Given the description of an element on the screen output the (x, y) to click on. 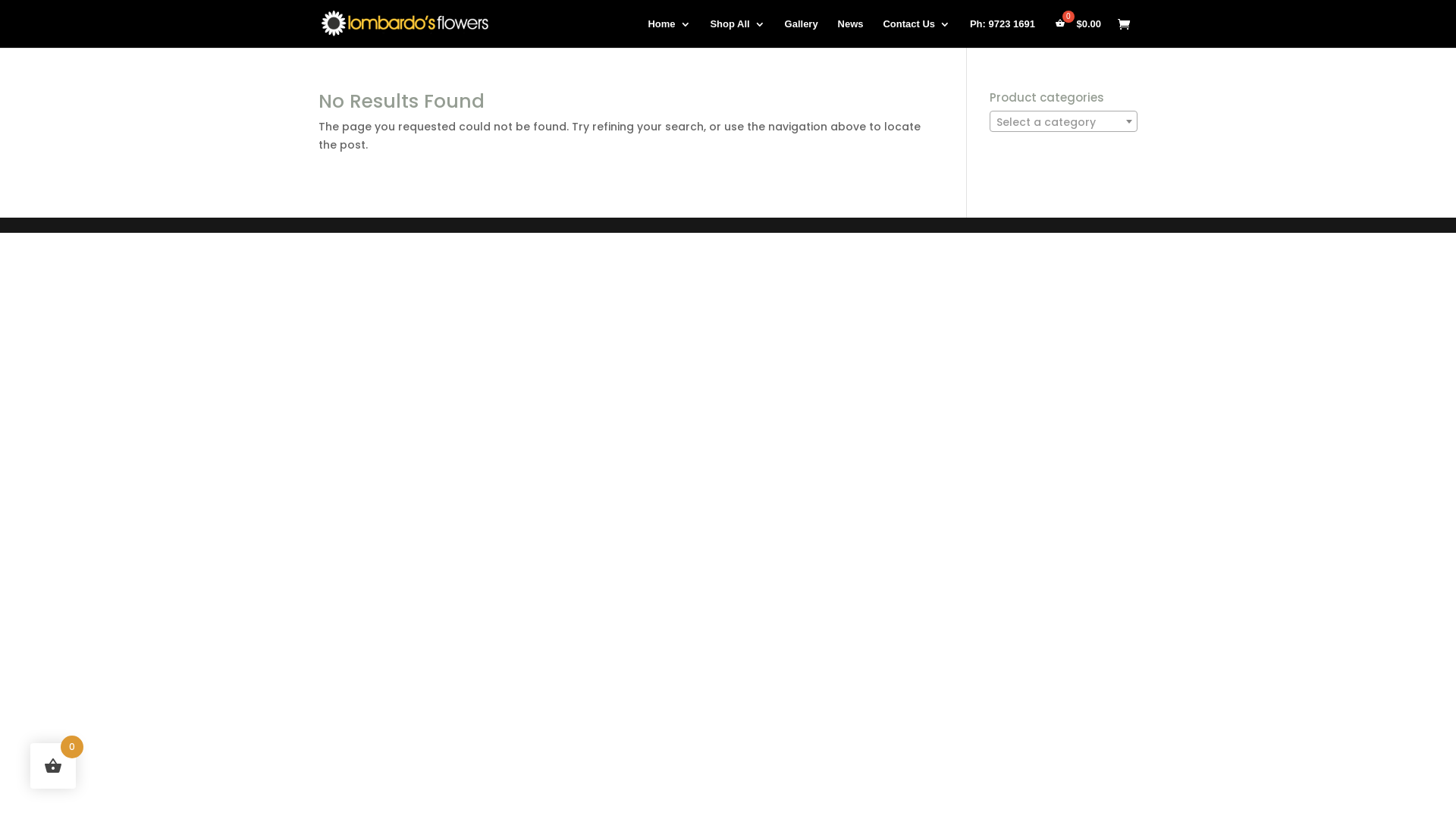
Home Element type: text (668, 32)
News Element type: text (850, 32)
Ph: 9723 1691 Element type: text (1002, 32)
$0.00 Element type: text (1077, 32)
Contact Us Element type: text (916, 32)
Gallery Element type: text (801, 32)
Shop All Element type: text (736, 32)
